Given the description of an element on the screen output the (x, y) to click on. 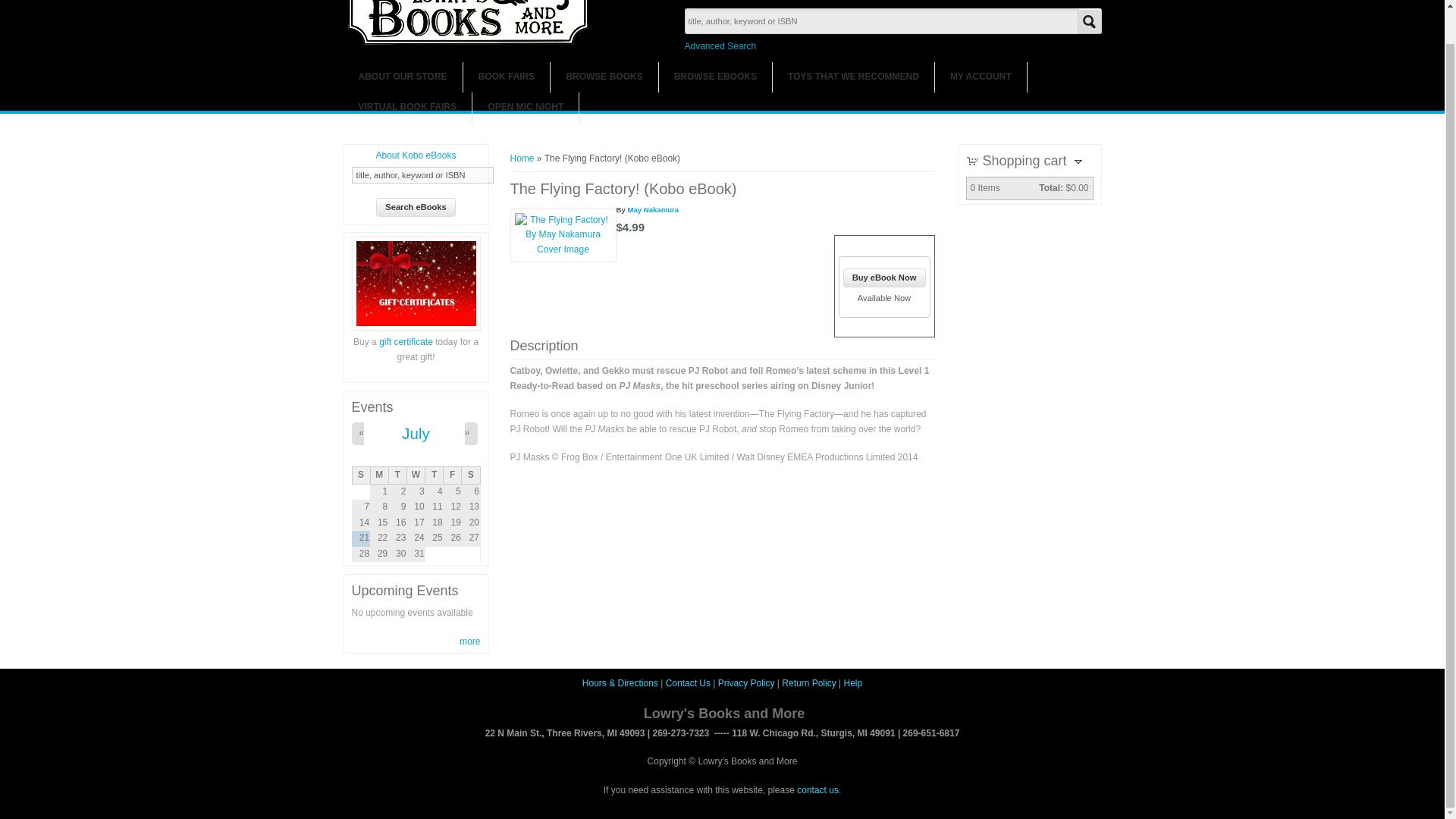
BOOK FAIRS (506, 76)
Search (1088, 21)
Buy eBook Now (884, 277)
Home (468, 41)
VIRTUAL BOOK FAIRS (406, 107)
MY ACCOUNT (980, 76)
Search eBooks (415, 207)
Search (1088, 21)
title, author, keyword or ISBN (422, 175)
BROWSE EBOOKS (715, 76)
ABOUT OUR STORE (401, 76)
TOYS THAT WE RECOMMEND (853, 76)
BROWSE BOOKS (604, 76)
Enter title, author, keyword or ISBN. (422, 175)
Advanced Search (719, 45)
